Given the description of an element on the screen output the (x, y) to click on. 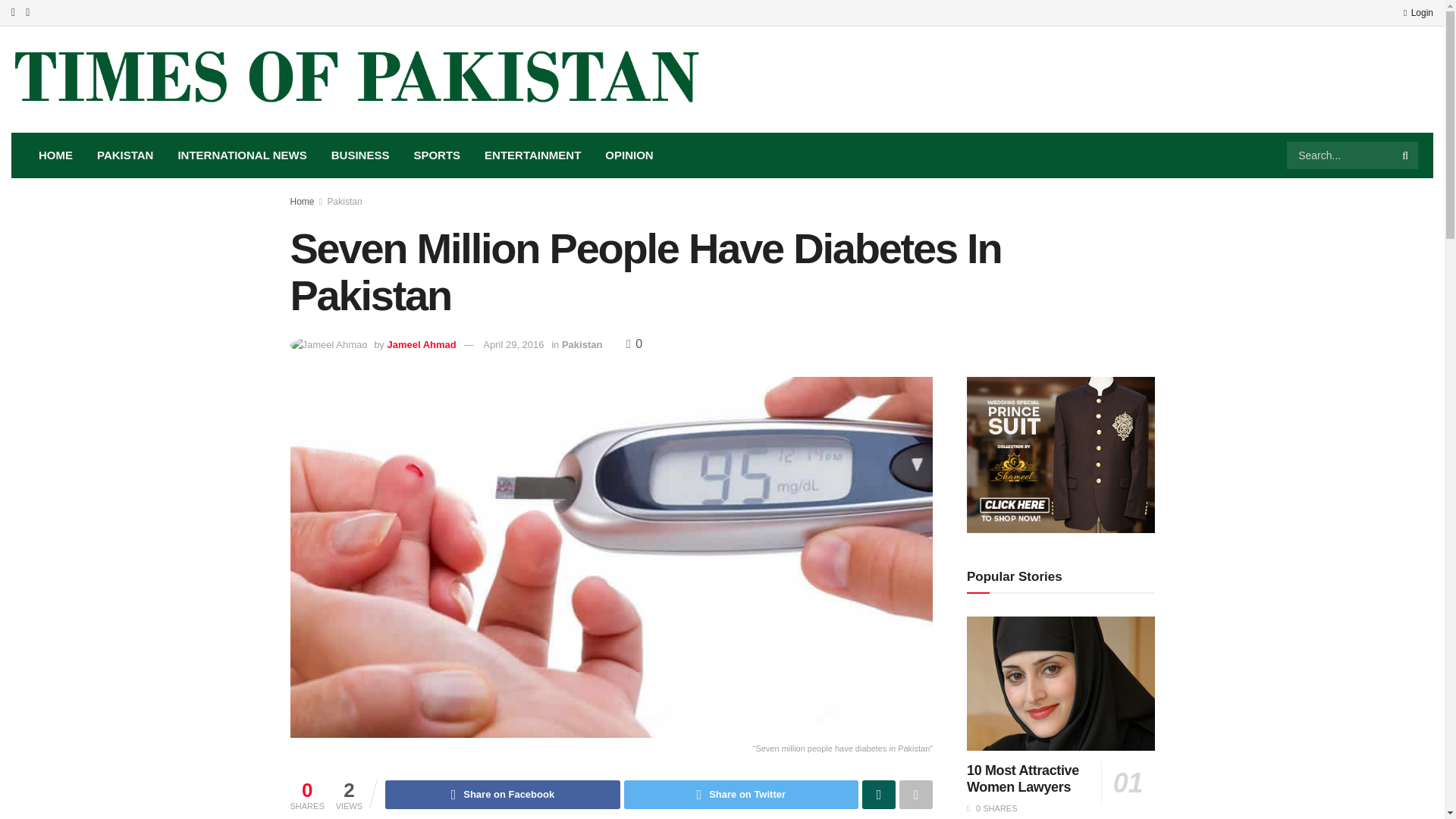
0 (634, 343)
HOME (55, 155)
Login (1417, 12)
INTERNATIONAL NEWS (241, 155)
April 29, 2016 (513, 344)
Share on Facebook (502, 794)
BUSINESS (359, 155)
Jameel Ahmad (421, 344)
Share on Twitter (741, 794)
Pakistan (344, 201)
ENTERTAINMENT (531, 155)
Pakistan (582, 344)
Home (301, 201)
OPINION (628, 155)
PAKISTAN (124, 155)
